Given the description of an element on the screen output the (x, y) to click on. 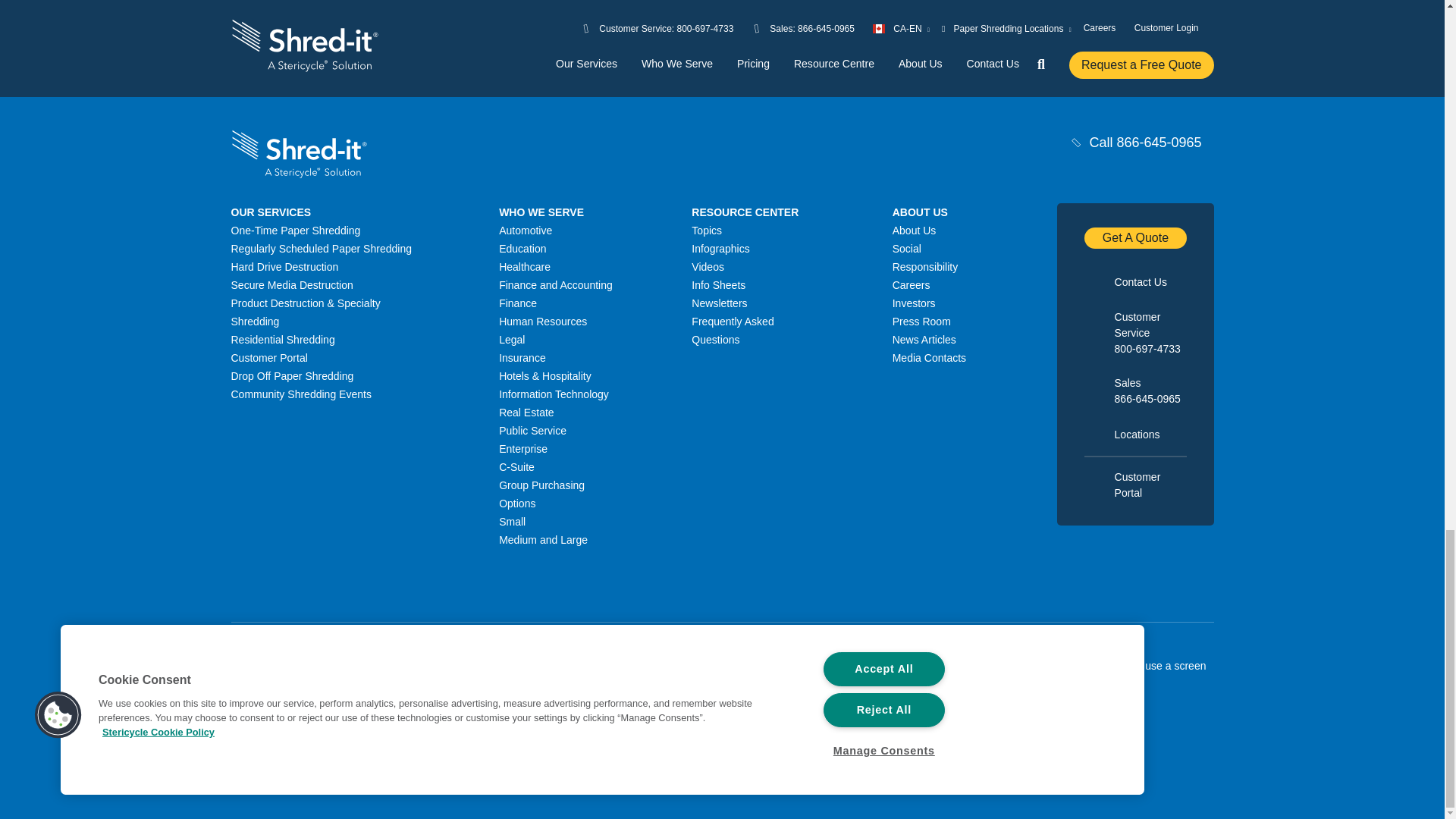
Please enter a valid email address. (844, 15)
